Given the description of an element on the screen output the (x, y) to click on. 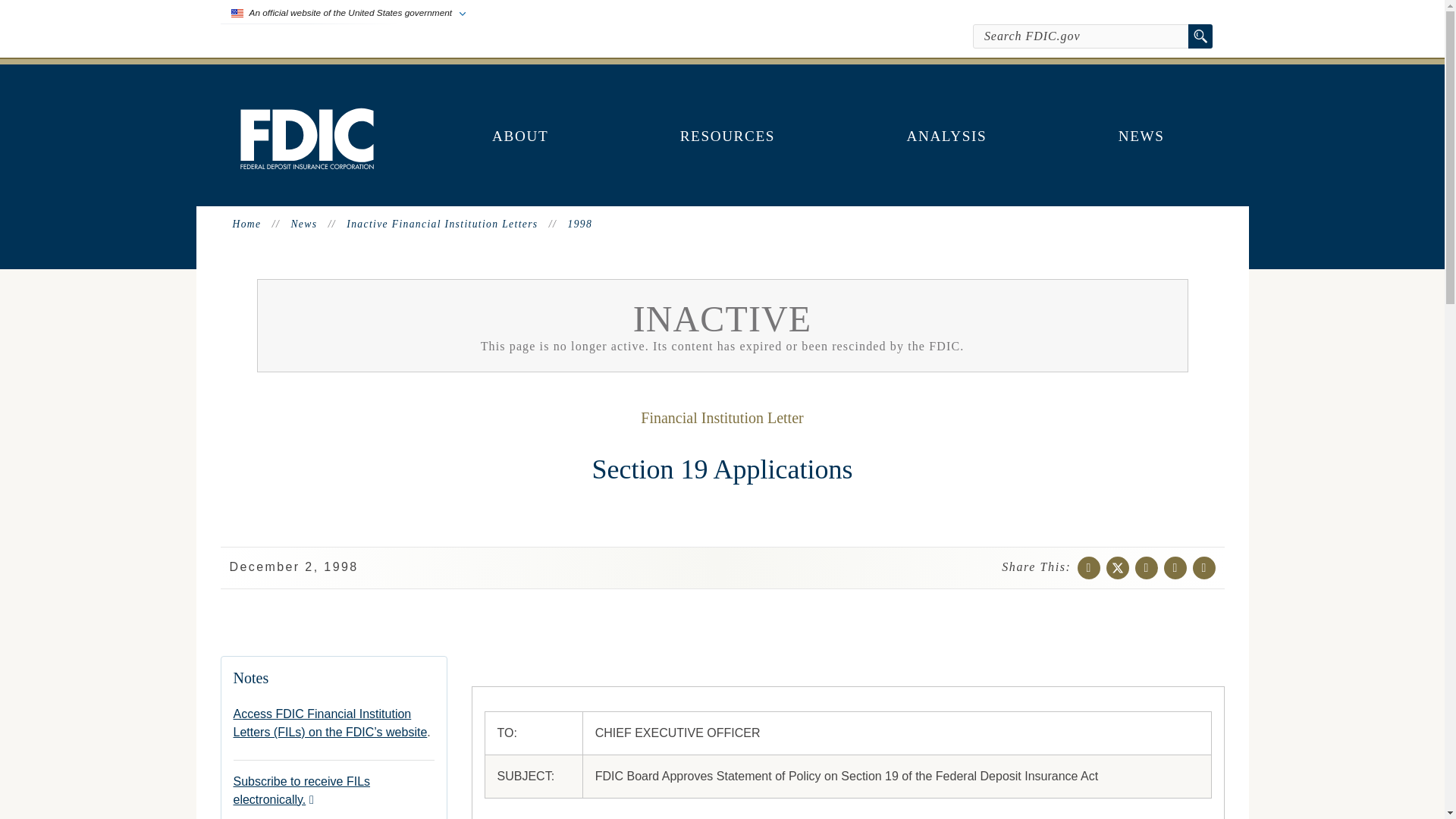
Search FDIC.gov (1080, 36)
Search FDIC.gov (1080, 36)
ABOUT (520, 136)
Home (306, 165)
RESOURCES (727, 136)
